Given the description of an element on the screen output the (x, y) to click on. 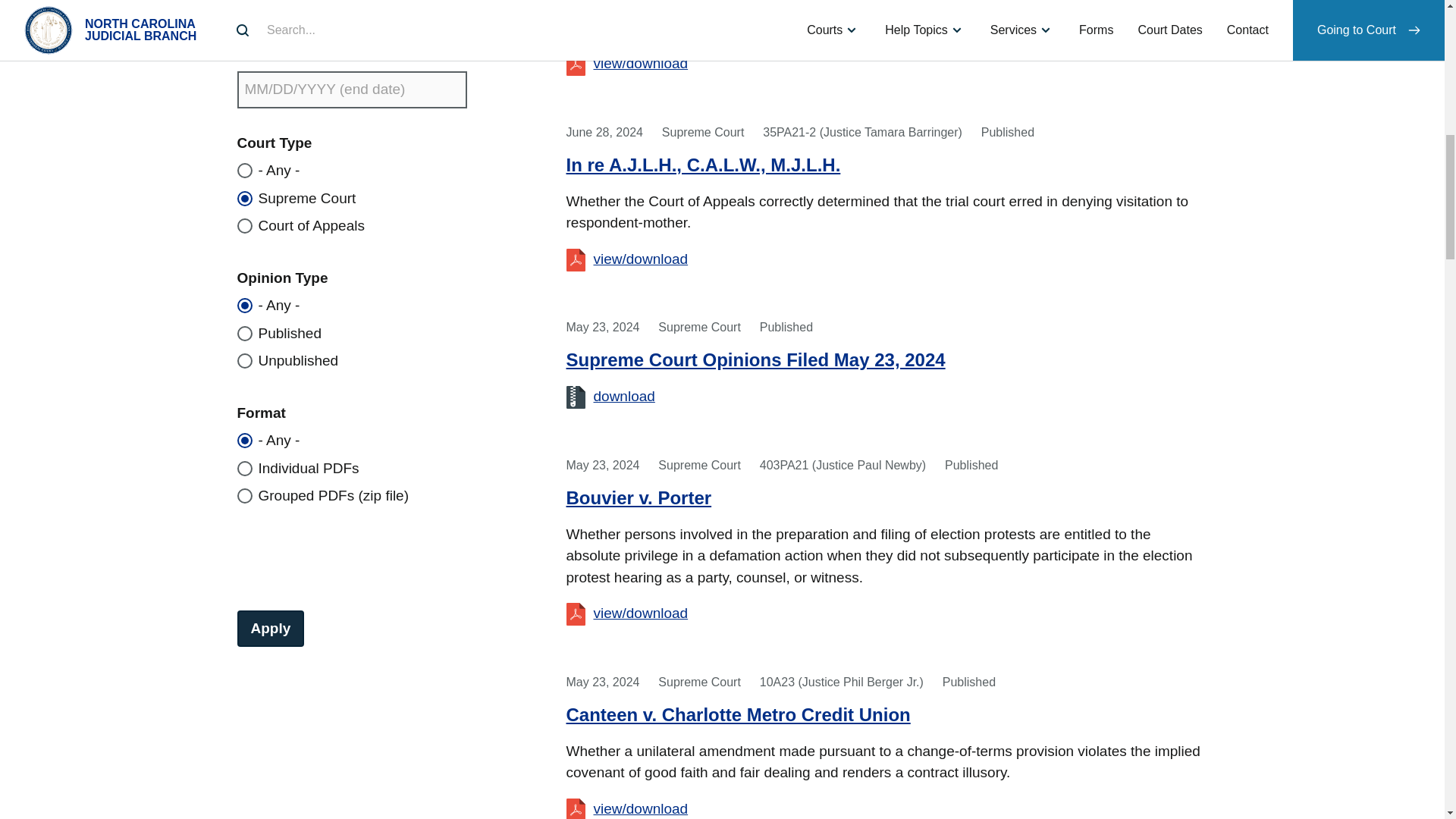
35PA21-2 (649, 258)
Supreme Court Opinions Filed May 23, 2024 (622, 396)
403PA21 (649, 612)
Apply (269, 628)
55A23 (649, 63)
10A23 (649, 808)
